Given the description of an element on the screen output the (x, y) to click on. 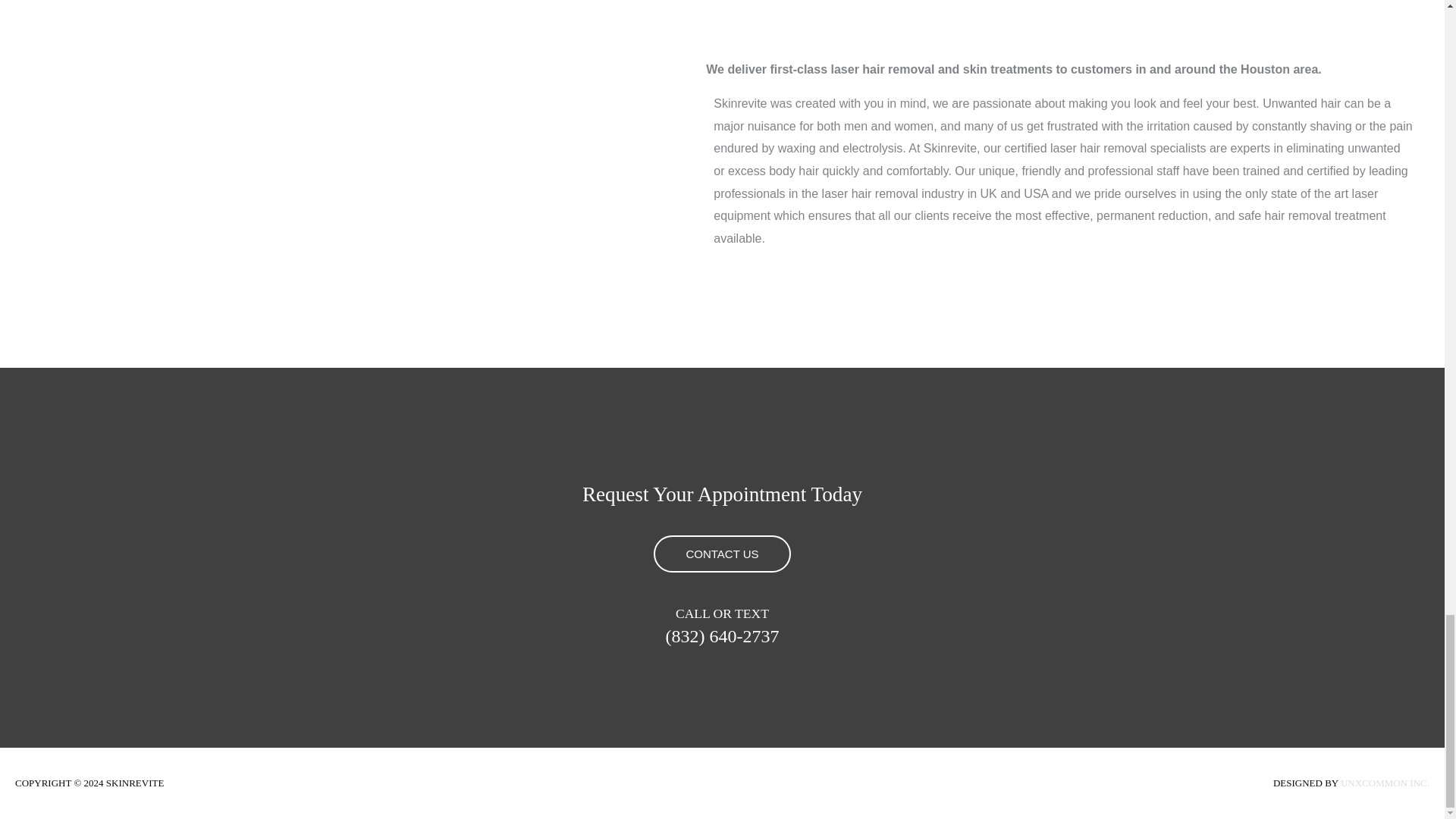
UNXCOMMON INC. (1384, 782)
CONTACT US (721, 553)
